Given the description of an element on the screen output the (x, y) to click on. 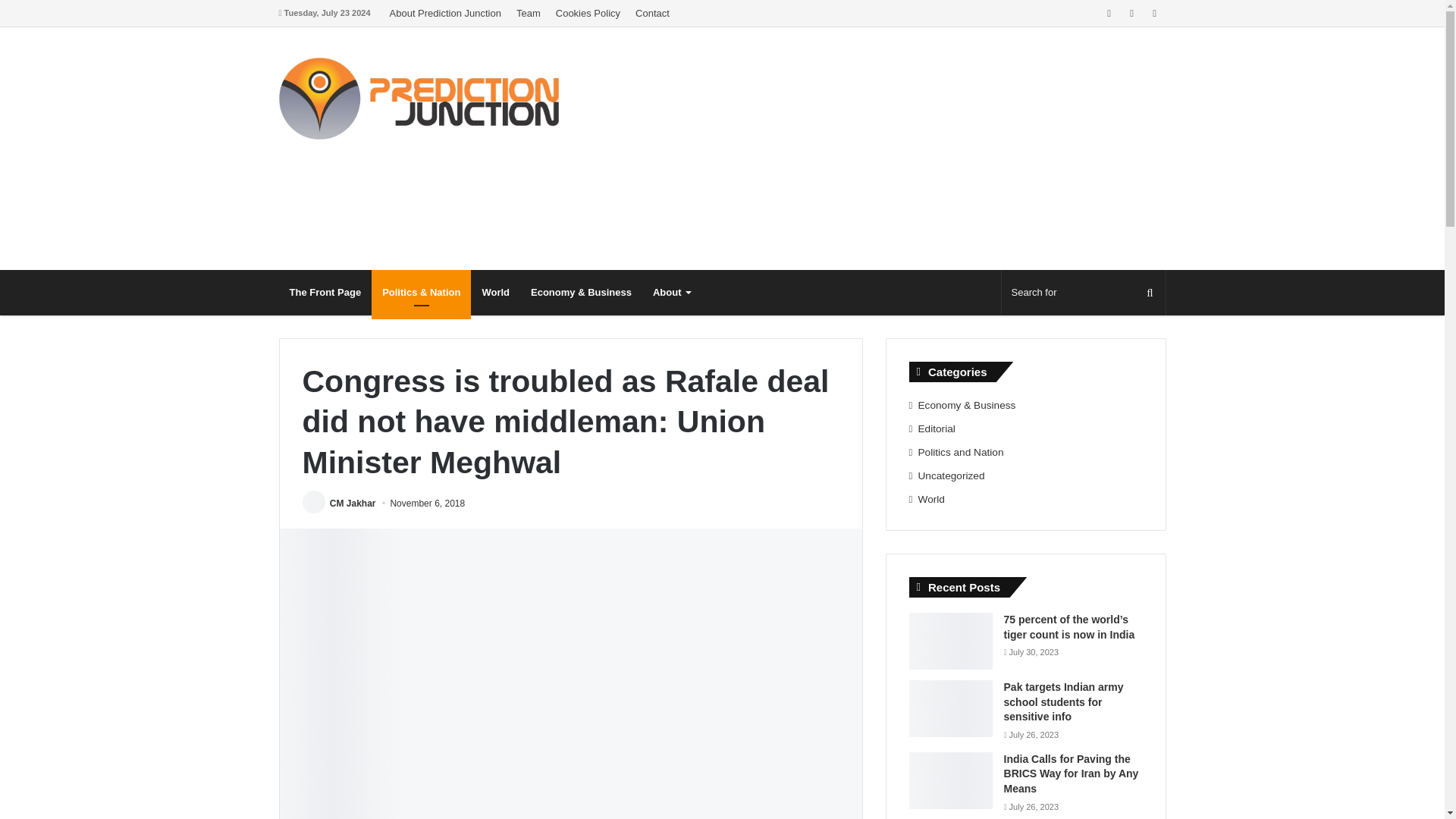
About Prediction Junction (444, 13)
Team (528, 13)
Cookies Policy (587, 13)
Advertisement (890, 148)
The Front Page (325, 292)
Search for (1082, 292)
World (494, 292)
About (671, 292)
CM Jakhar (352, 502)
Contact (652, 13)
CM Jakhar (352, 502)
